Given the description of an element on the screen output the (x, y) to click on. 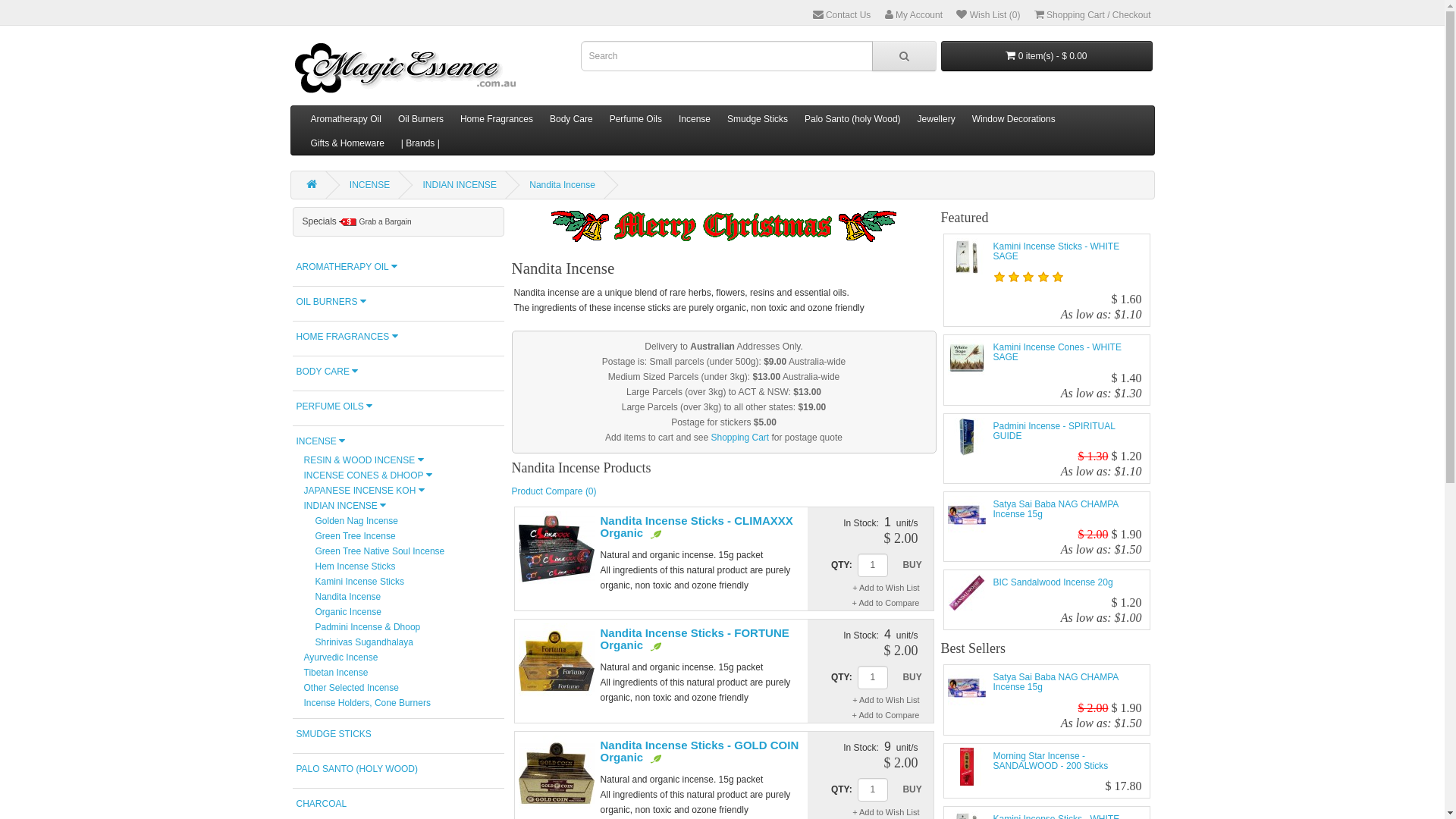
Nandita Incense Sticks - GOLD COIN Organic Element type: hover (556, 773)
Padmini Incense - SPIRITUAL GUIDE Element type: text (1054, 430)
Satya Sai Baba NAG CHAMPA Incense 15g Element type: hover (966, 687)
Ayurvedic Incense Element type: text (340, 657)
Organic Element type: hover (655, 758)
Specials  Grab a Bargain Element type: text (398, 221)
+ Add to Wish List Element type: text (891, 587)
Padmini Incense & Dhoop Element type: text (367, 626)
Shopping Cart Element type: text (739, 437)
| Brands | Element type: text (420, 142)
Organic Element type: hover (655, 533)
BUY Element type: text (912, 789)
Satya Sai Baba NAG CHAMPA Incense 15g Element type: text (1055, 681)
Incense Element type: text (694, 118)
Nandita Incense Sticks - CLIMAXXX Organic Element type: text (696, 526)
Kamini Incense Sticks - WHITE SAGE Element type: hover (966, 257)
Organic Element type: hover (655, 645)
Oil Burners Element type: text (420, 118)
INCENSE Element type: text (369, 184)
Other Selected Incense Element type: text (350, 687)
HOME FRAGRANCES Element type: text (398, 336)
AROMATHERAPY OIL Element type: text (398, 266)
Green Tree Native Soul Incense Element type: text (380, 551)
BIC Sandalwood Incense 20g Element type: hover (966, 592)
JAPANESE INCENSE KOH Element type: text (363, 490)
INDIAN INCENSE Element type: text (344, 505)
+ Add to Compare Element type: text (891, 602)
Kamini Incense Cones - WHITE SAGE Element type: hover (966, 357)
Kamini Incense Sticks - WHITE SAGE Element type: text (1056, 251)
Nandita Incense Sticks - CLIMAXXX Organic Element type: hover (556, 548)
Golden Nag Incense Element type: text (356, 520)
Palo Santo (holy Wood) Element type: text (852, 118)
MagicEssence.com.au Element type: hover (406, 67)
BODY CARE Element type: text (398, 371)
RESIN & WOOD INCENSE Element type: text (363, 460)
Shopping Cart / Checkout Element type: text (1092, 14)
Nandita Incense Sticks - GOLD COIN Organic Element type: text (699, 751)
Nandita Incense Element type: text (348, 596)
Wish List (0) Element type: text (987, 14)
+ Add to Compare Element type: text (891, 714)
Home Fragrances Element type: text (496, 118)
BIC Sandalwood Incense 20g Element type: text (1053, 582)
Nandita Incense Element type: text (562, 184)
Nandita Incense Sticks - FORTUNE Organic Element type: hover (556, 661)
Product Compare (0) Element type: text (553, 491)
Body Care Element type: text (571, 118)
Morning Star Incense - SANDALWOOD - 200 Sticks Element type: hover (966, 766)
Satya Sai Baba NAG CHAMPA Incense 15g Element type: text (1055, 508)
Contact Us Element type: text (841, 14)
Smudge Sticks Element type: text (757, 118)
Padmini Incense - SPIRITUAL GUIDE Element type: hover (966, 436)
Gifts & Homeware Element type: text (346, 142)
Kamini Incense Cones - WHITE SAGE Element type: text (1057, 352)
INCENSE Element type: text (398, 440)
CHARCOAL Element type: text (398, 803)
Nandita Incense Sticks - FORTUNE Organic Element type: text (694, 639)
Shrinivas Sugandhalaya Element type: text (364, 642)
BUY Element type: text (912, 564)
PALO SANTO (HOLY WOOD) Element type: text (398, 768)
OIL BURNERS Element type: text (398, 301)
My Account Element type: text (913, 14)
Perfume Oils Element type: text (635, 118)
BUY Element type: text (912, 677)
Jewellery Element type: text (936, 118)
INDIAN INCENSE Element type: text (459, 184)
PERFUME OILS Element type: text (398, 406)
0 item(s) - $ 0.00 Element type: text (1045, 55)
+ Add to Wish List Element type: text (891, 699)
Kamini Incense Sticks Element type: text (359, 581)
Organic Incense Element type: text (348, 611)
INCENSE CONES & DHOOP Element type: text (367, 475)
Window Decorations Element type: text (1013, 118)
Aromatherapy Oil Element type: text (345, 118)
SMUDGE STICKS Element type: text (398, 733)
Hem Incense Sticks Element type: text (355, 566)
Morning Star Incense - SANDALWOOD - 200 Sticks Element type: text (1050, 760)
Green Tree Incense Element type: text (355, 535)
Incense Holders, Cone Burners Element type: text (366, 702)
Satya Sai Baba NAG CHAMPA Incense 15g Element type: hover (966, 514)
Tibetan Incense Element type: text (335, 672)
